Given the description of an element on the screen output the (x, y) to click on. 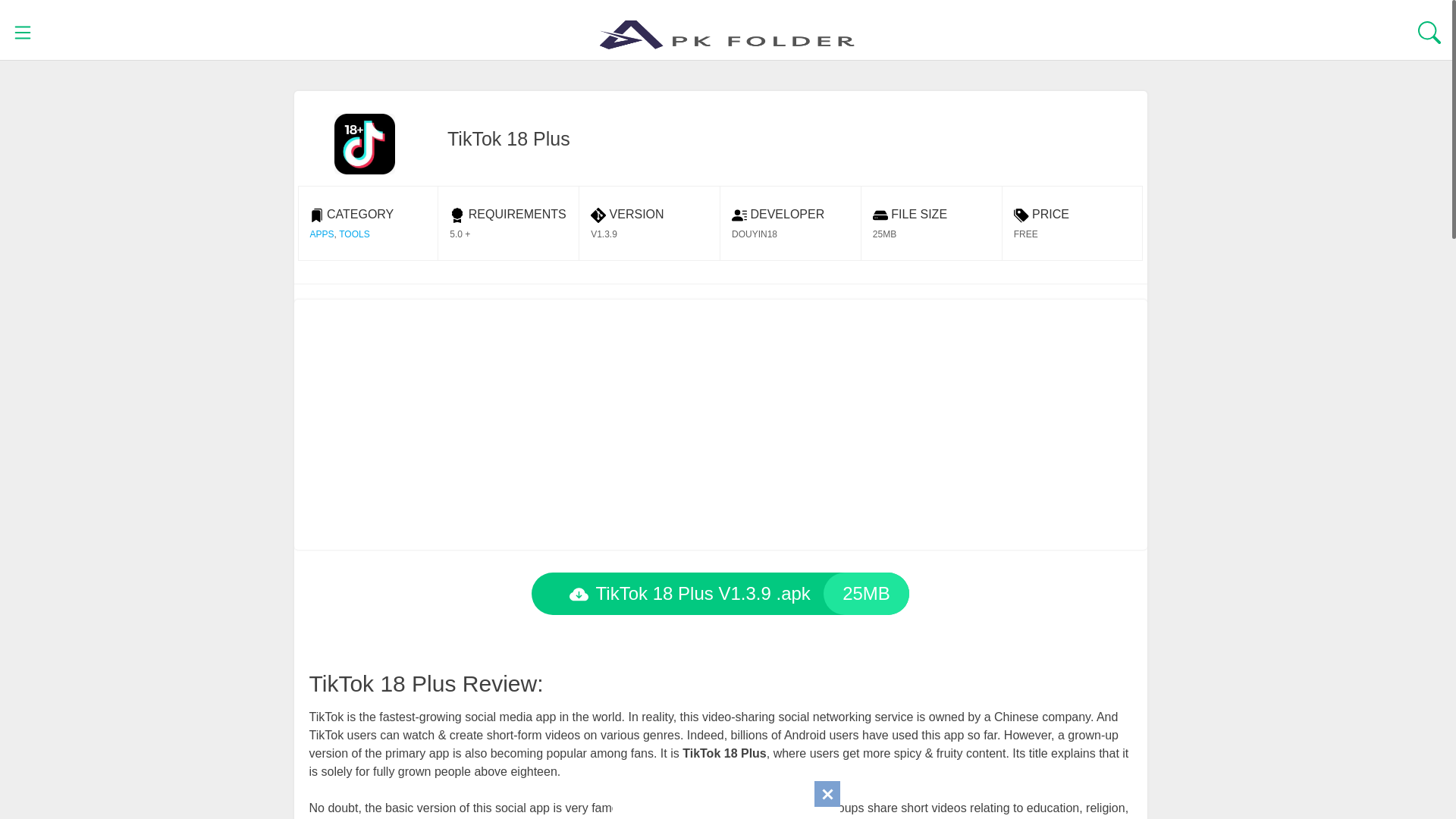
APPS (320, 234)
TOOLS (354, 234)
